Given the description of an element on the screen output the (x, y) to click on. 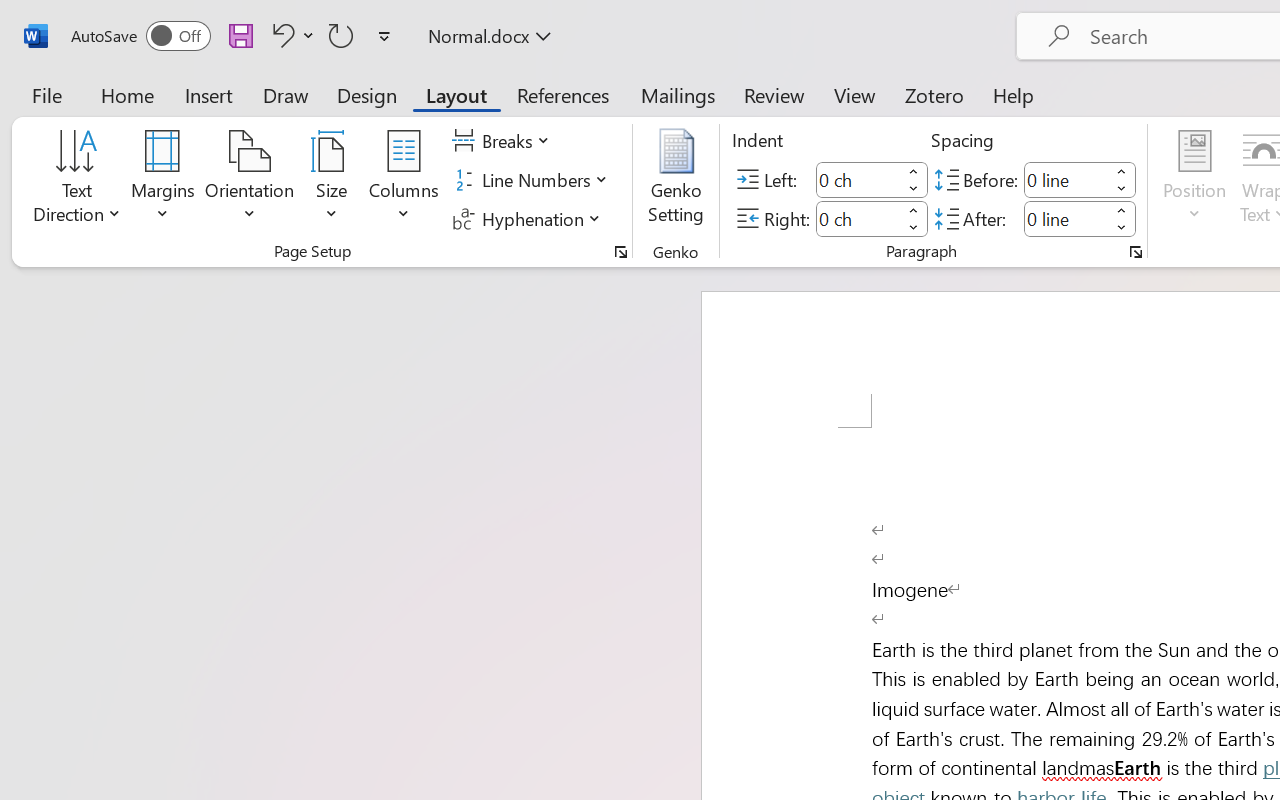
Hyphenation (529, 218)
Breaks (504, 141)
Text Direction (77, 179)
Help (1013, 94)
